Given the description of an element on the screen output the (x, y) to click on. 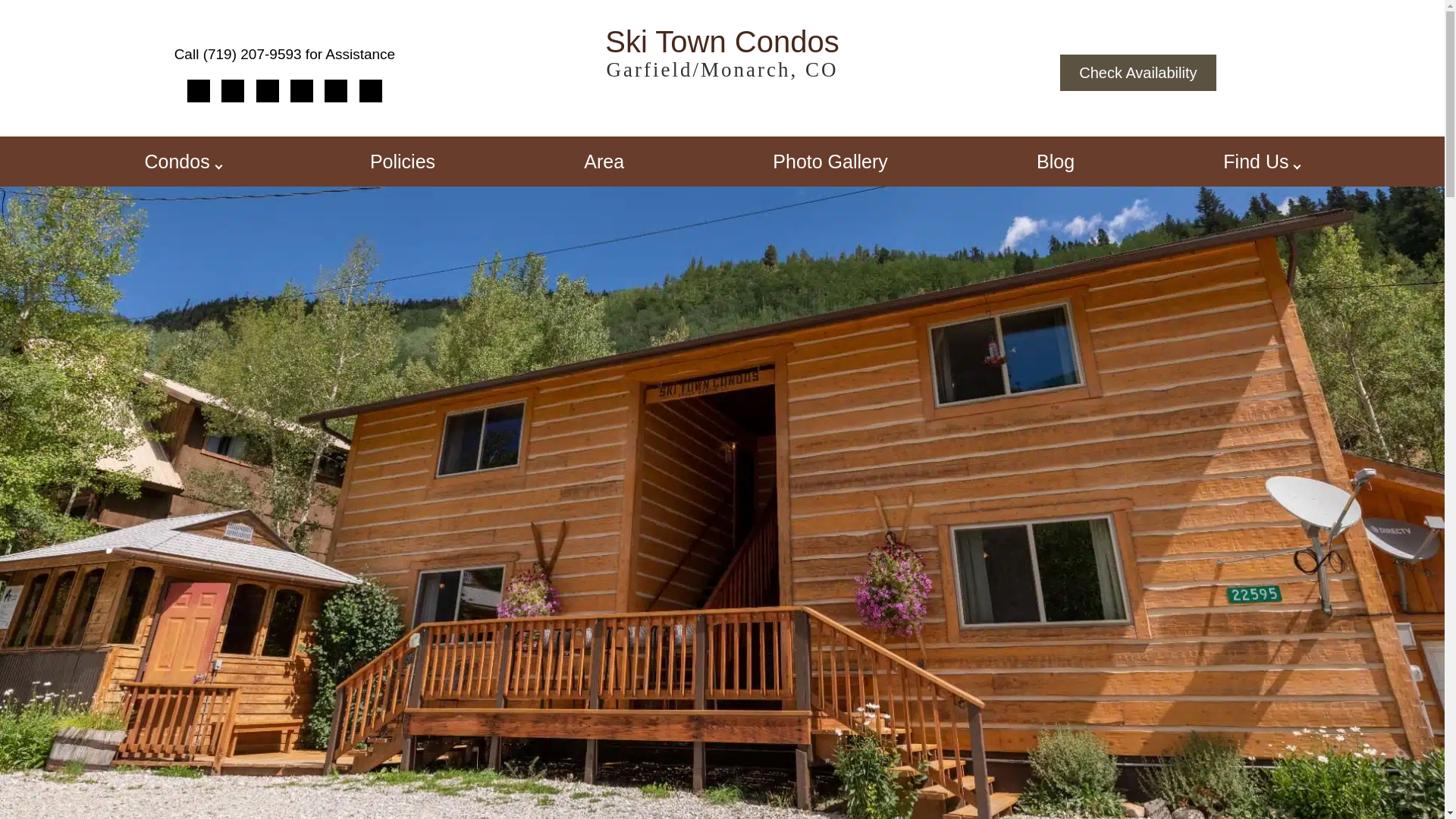
Condos (176, 161)
Photo Gallery (829, 161)
Driving Directions (232, 90)
Ski Town Condos (721, 54)
Policies (402, 161)
Check Availability (1137, 72)
Home (198, 90)
Find Us (1255, 161)
